Given the description of an element on the screen output the (x, y) to click on. 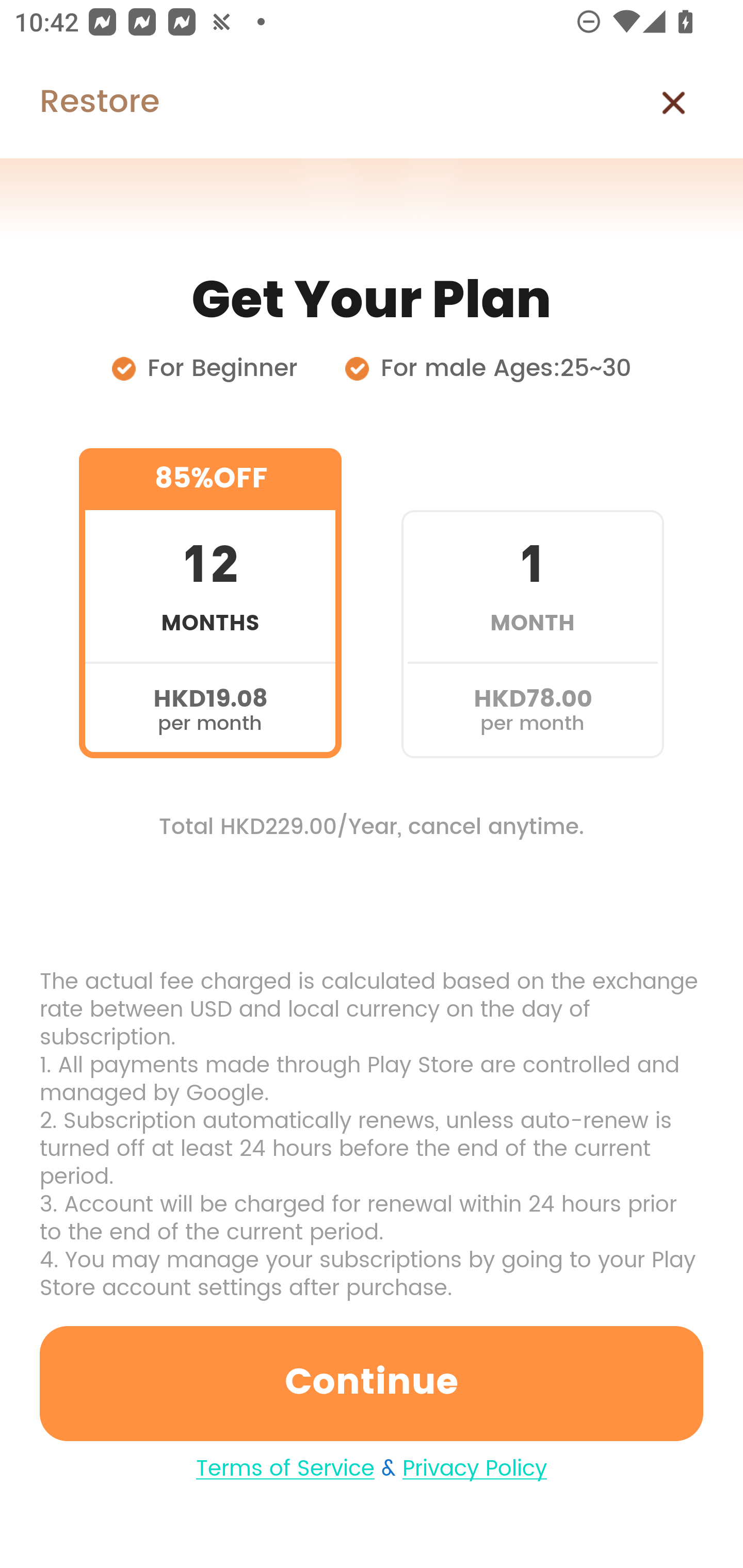
Restore (79, 102)
85%OFF 12 MONTHS per month HKD19.08 (209, 603)
1 MONTH per month HKD78.00 (532, 603)
Continue (371, 1383)
